Given the description of an element on the screen output the (x, y) to click on. 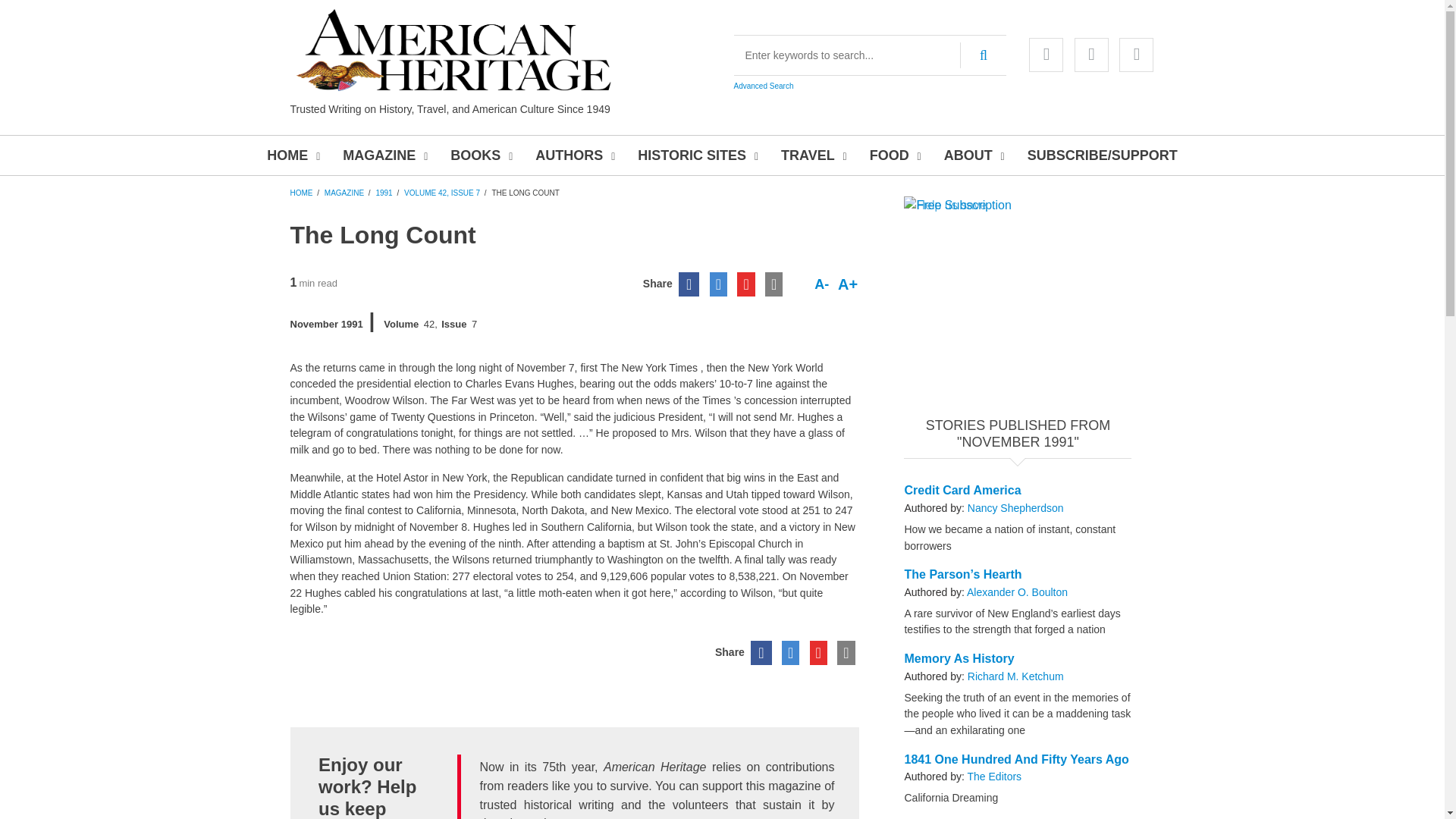
Search (982, 54)
Home (453, 50)
MAGAZINE (382, 155)
RSS (1136, 54)
HOME (291, 155)
Enter the terms you wish to search for. (870, 55)
Facebook (1045, 54)
Advanced Search (763, 85)
Twitter (1091, 54)
Search (982, 54)
